Given the description of an element on the screen output the (x, y) to click on. 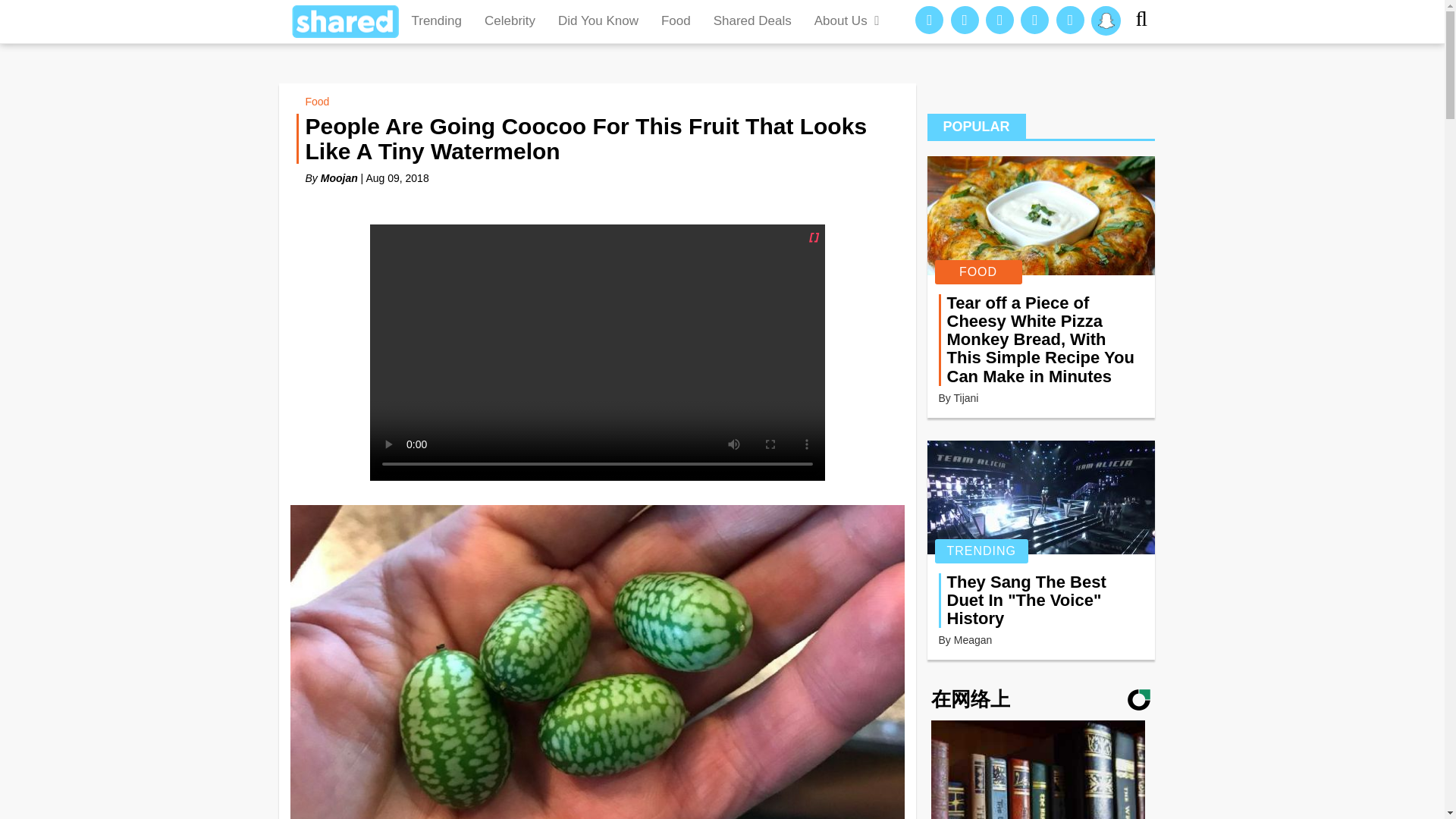
Food (316, 101)
Search (1147, 21)
About Us (848, 21)
Shared Deals (752, 21)
Trending (436, 21)
youtube (1070, 19)
Meagan's Profile (972, 639)
Moojan (339, 177)
twitter (1034, 19)
Tijani's Profile (965, 398)
snapchat (1105, 20)
Moojan's Profile (339, 177)
Did You Know (598, 21)
facebook (929, 19)
